Given the description of an element on the screen output the (x, y) to click on. 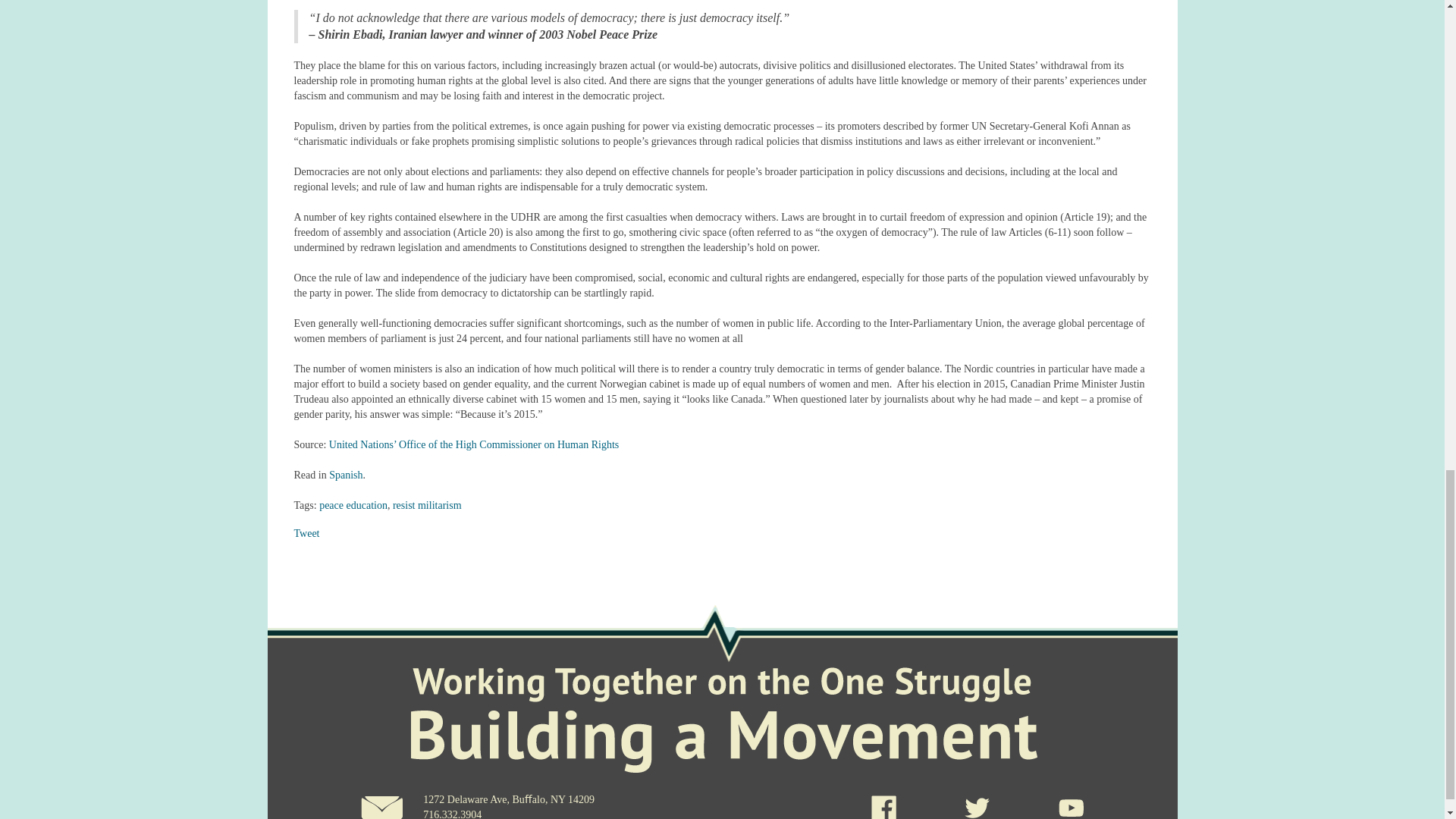
Tweet (307, 532)
peace education (352, 505)
Spanish (345, 474)
resist militarism (427, 505)
